Given the description of an element on the screen output the (x, y) to click on. 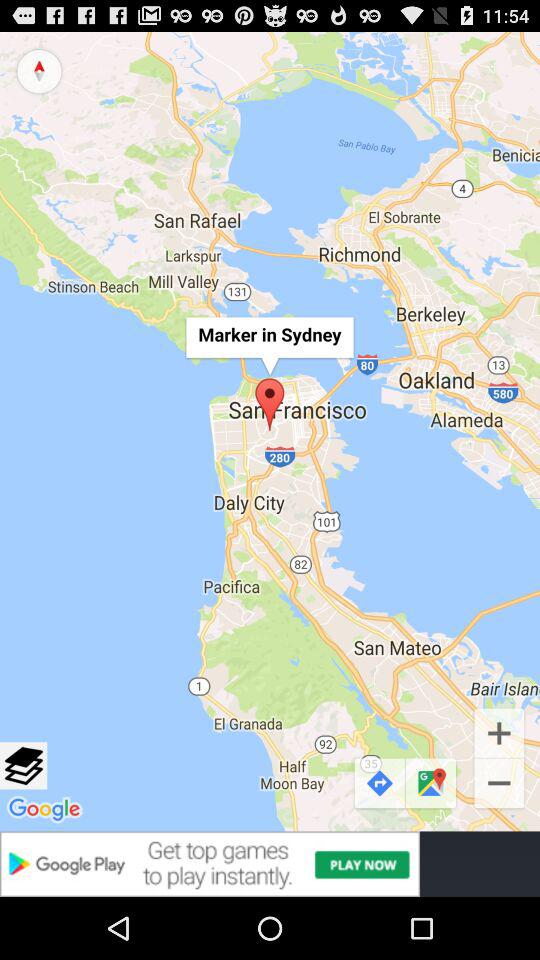
redirect to the google play store (270, 864)
